Given the description of an element on the screen output the (x, y) to click on. 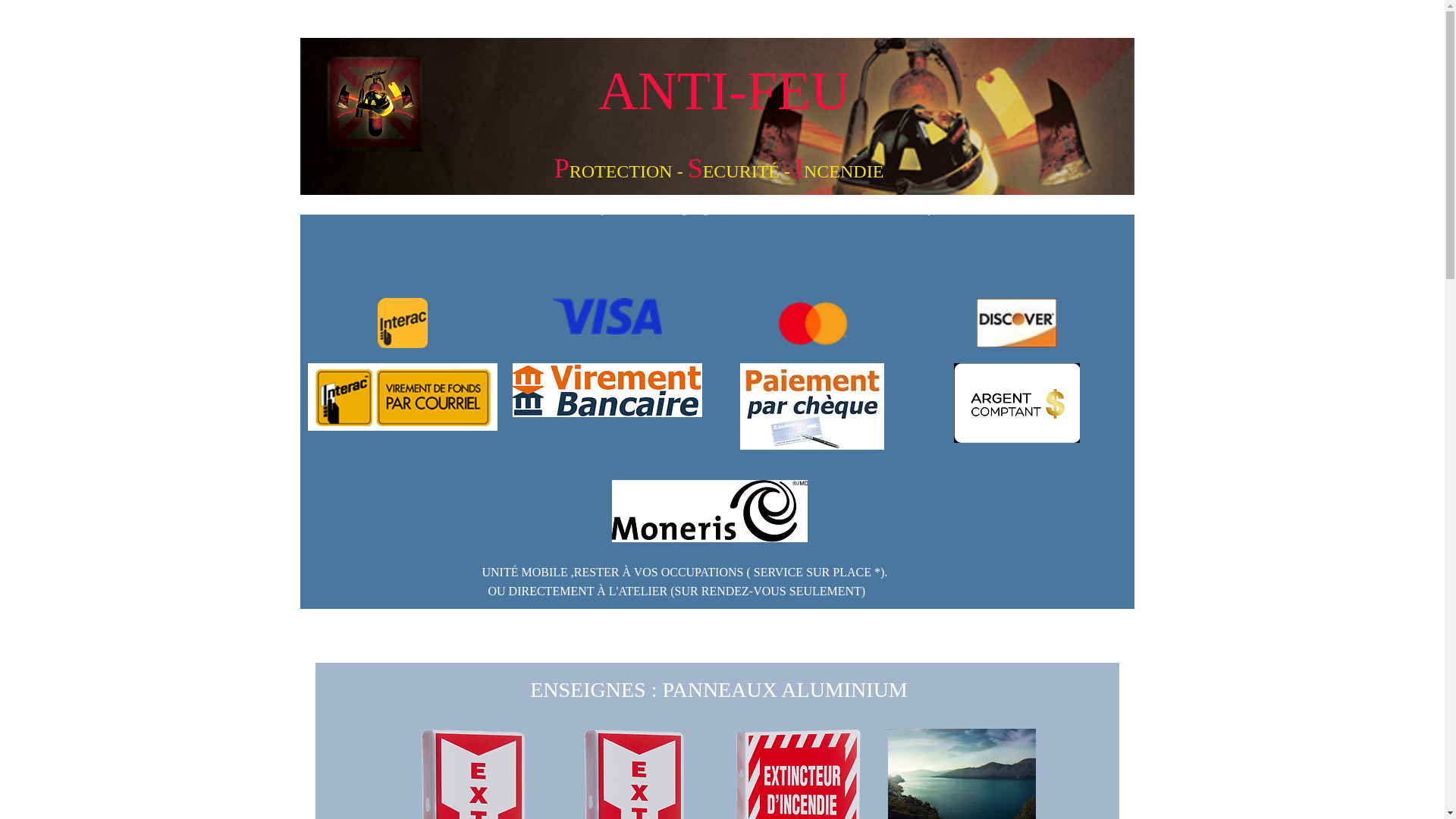
Extincteurs Element type: text (480, 209)
Contact Element type: text (1001, 209)
Batteries Element type: text (804, 209)
SERVICES Element type: text (872, 209)
Accueil Element type: text (415, 209)
